Given the description of an element on the screen output the (x, y) to click on. 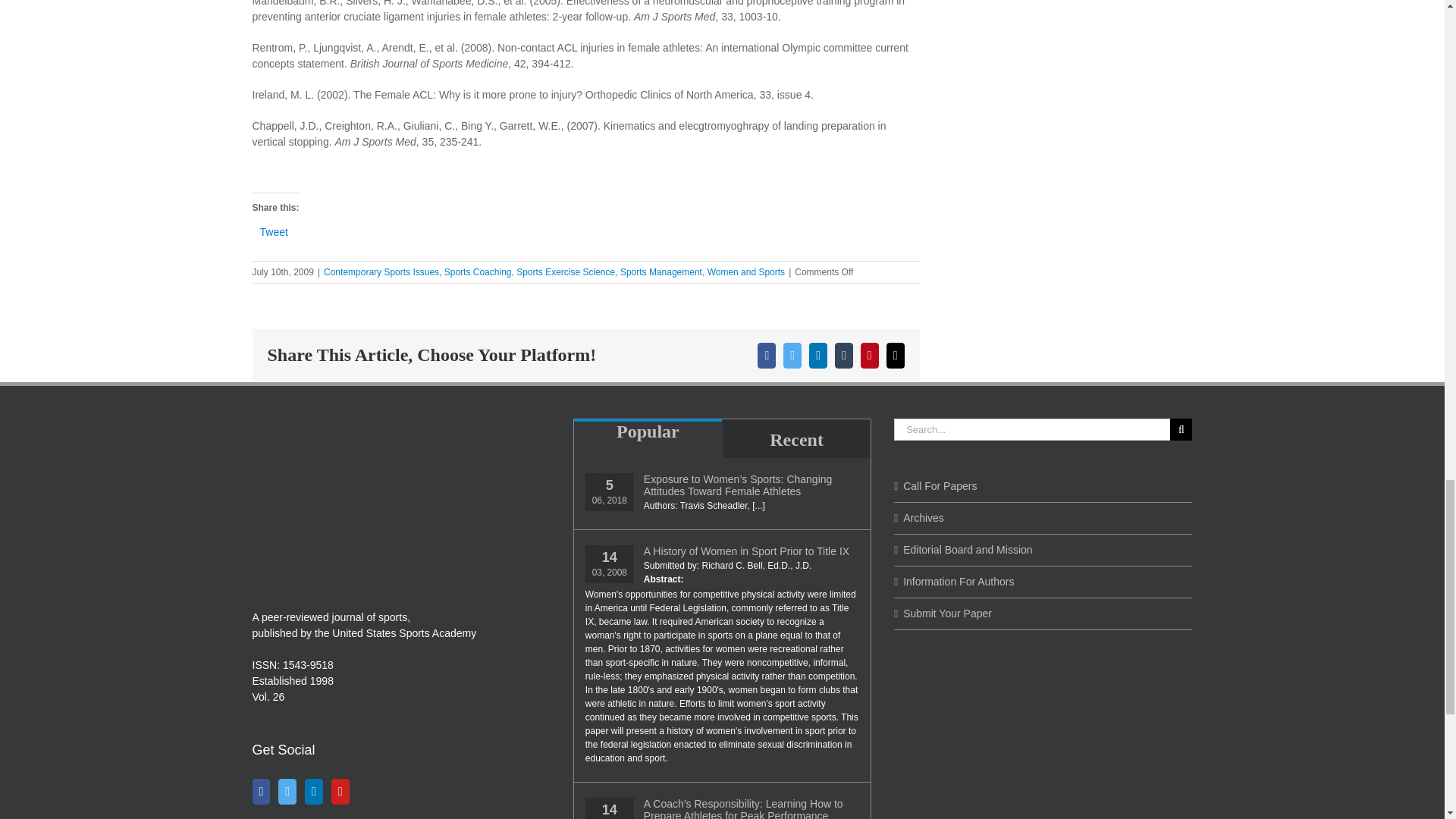
Sports Management (660, 271)
Twitter (287, 791)
Tweet (272, 232)
Pinterest (869, 355)
Facebook (766, 355)
LinkedIn (313, 791)
Twitter (792, 355)
Facebook (766, 355)
Email (895, 355)
Sports Exercise Science (565, 271)
Email (895, 355)
Twitter (792, 355)
LinkedIn (818, 355)
Recent (796, 438)
LinkedIn (818, 355)
